Given the description of an element on the screen output the (x, y) to click on. 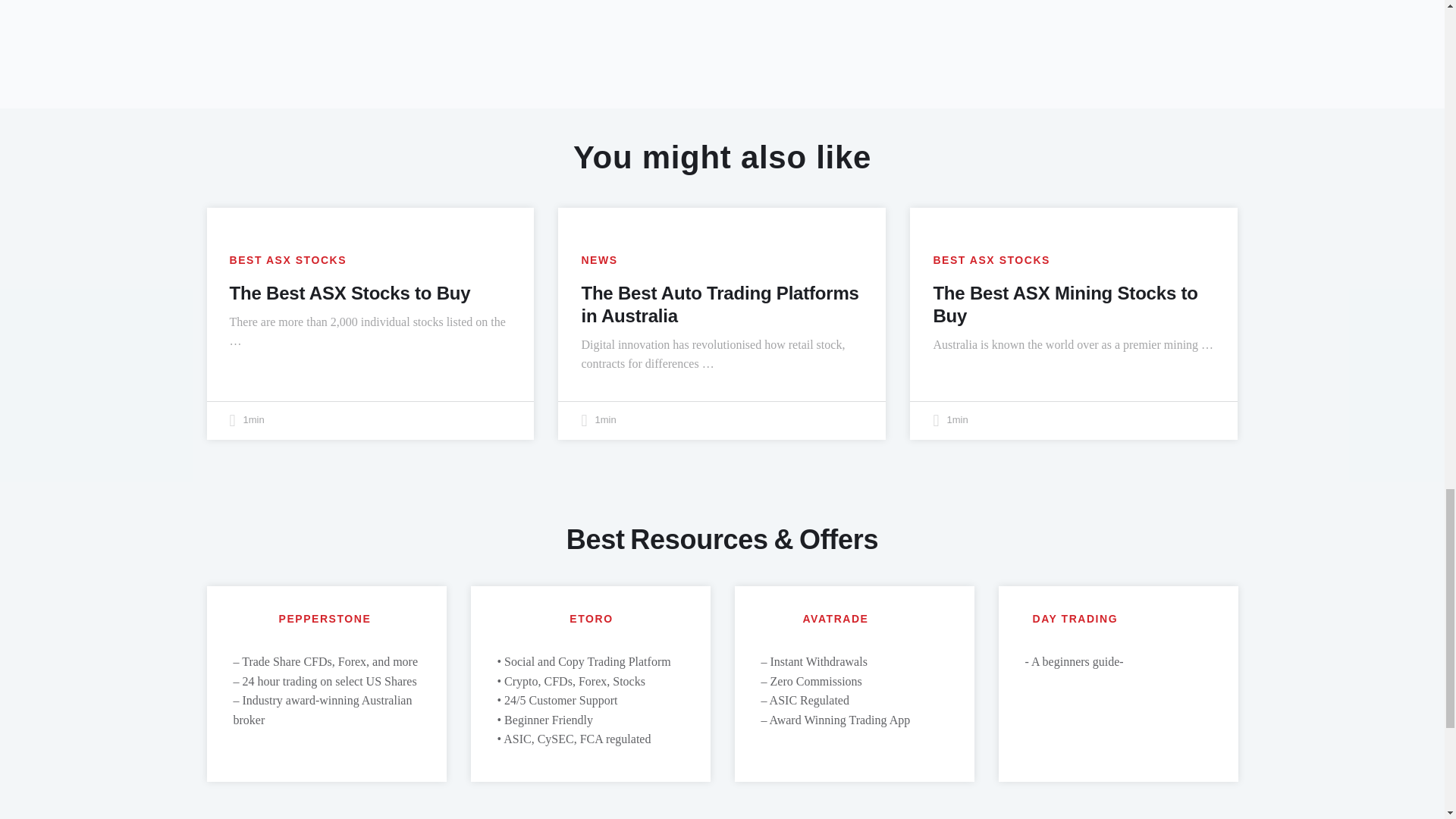
NEWS (598, 259)
BEST ASX STOCKS (991, 259)
The Best ASX Stocks to Buy (349, 292)
The Best Auto Trading Platforms in Australia (719, 303)
The Best ASX Mining Stocks to Buy (1064, 303)
BEST ASX STOCKS (287, 259)
